Given the description of an element on the screen output the (x, y) to click on. 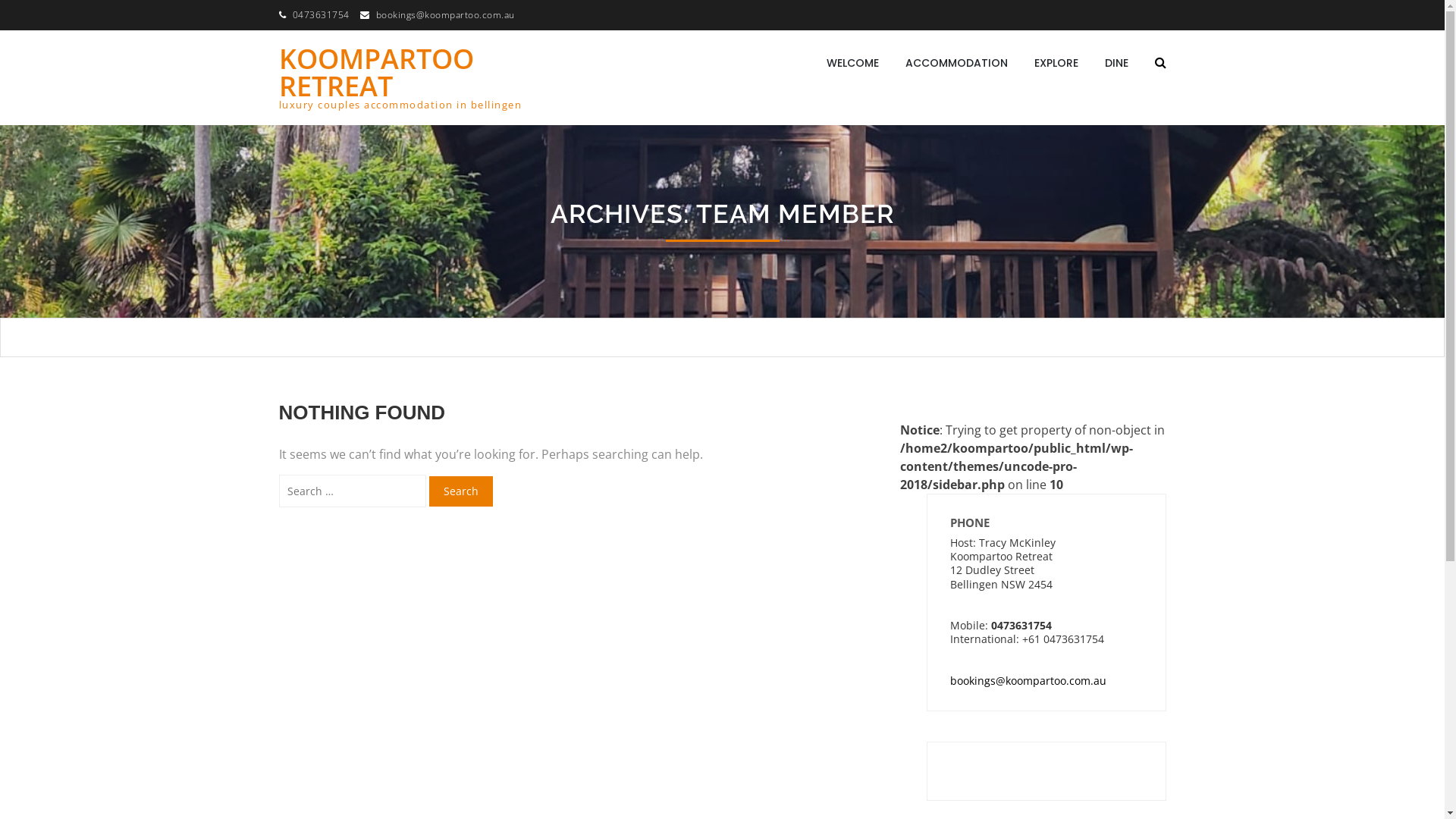
ACCOMMODATION Element type: text (956, 62)
EXPLORE Element type: text (1055, 62)
DINE Element type: text (1116, 62)
0473631754 Element type: text (320, 14)
bookings@koompartoo.com.au Element type: text (445, 14)
Search Element type: text (460, 491)
WELCOME Element type: text (852, 62)
bookings@koompartoo.com.au Element type: text (1028, 680)
KOOMPARTOO RETREAT Element type: text (376, 72)
